Given the description of an element on the screen output the (x, y) to click on. 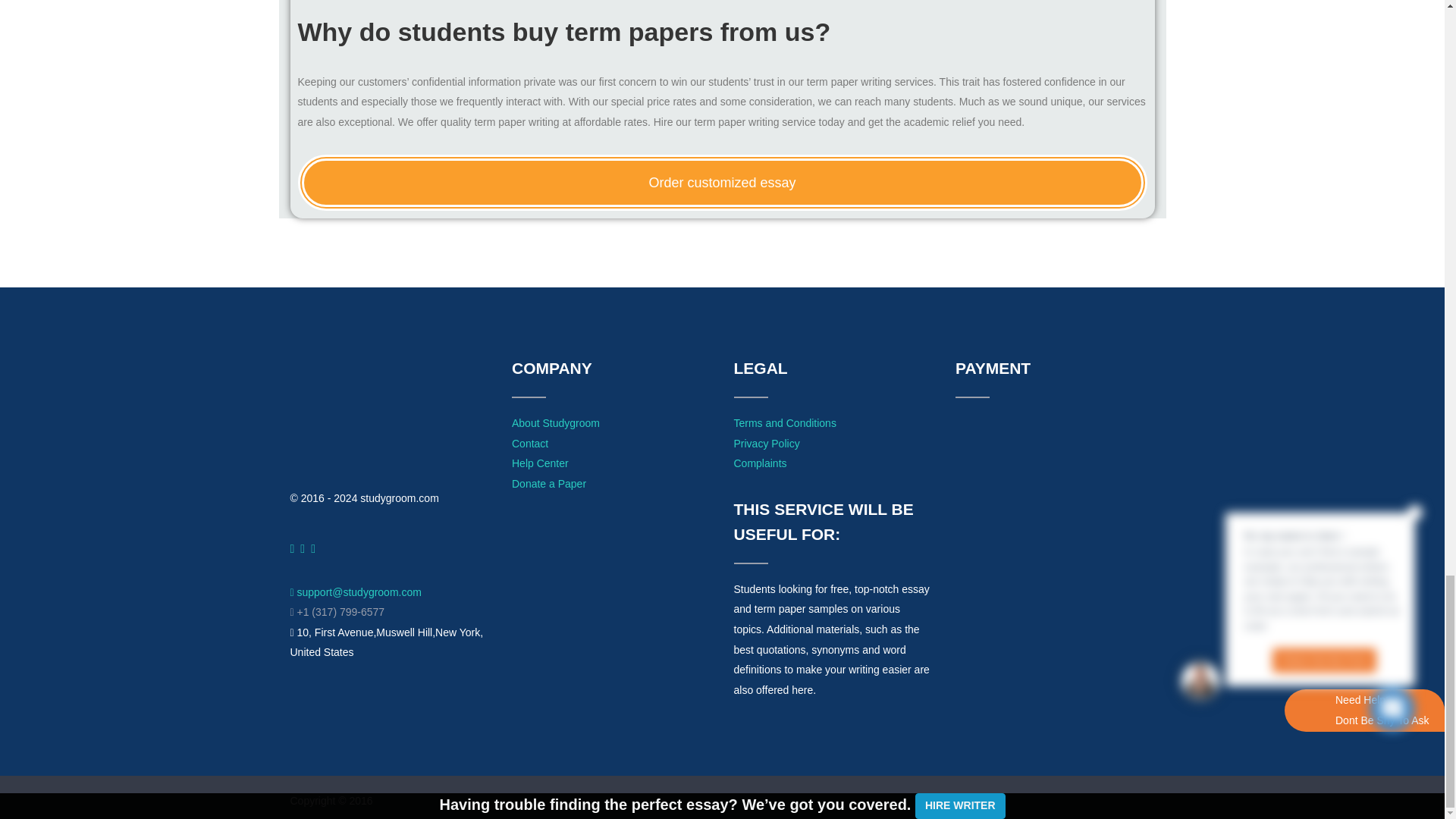
Terms and Conditions (784, 422)
Order customized essay (722, 182)
About Studygroom (555, 422)
Donate a Paper (549, 483)
Complaints (760, 463)
Help Center (540, 463)
Contact (530, 442)
Privacy Policy (766, 442)
